Given the description of an element on the screen output the (x, y) to click on. 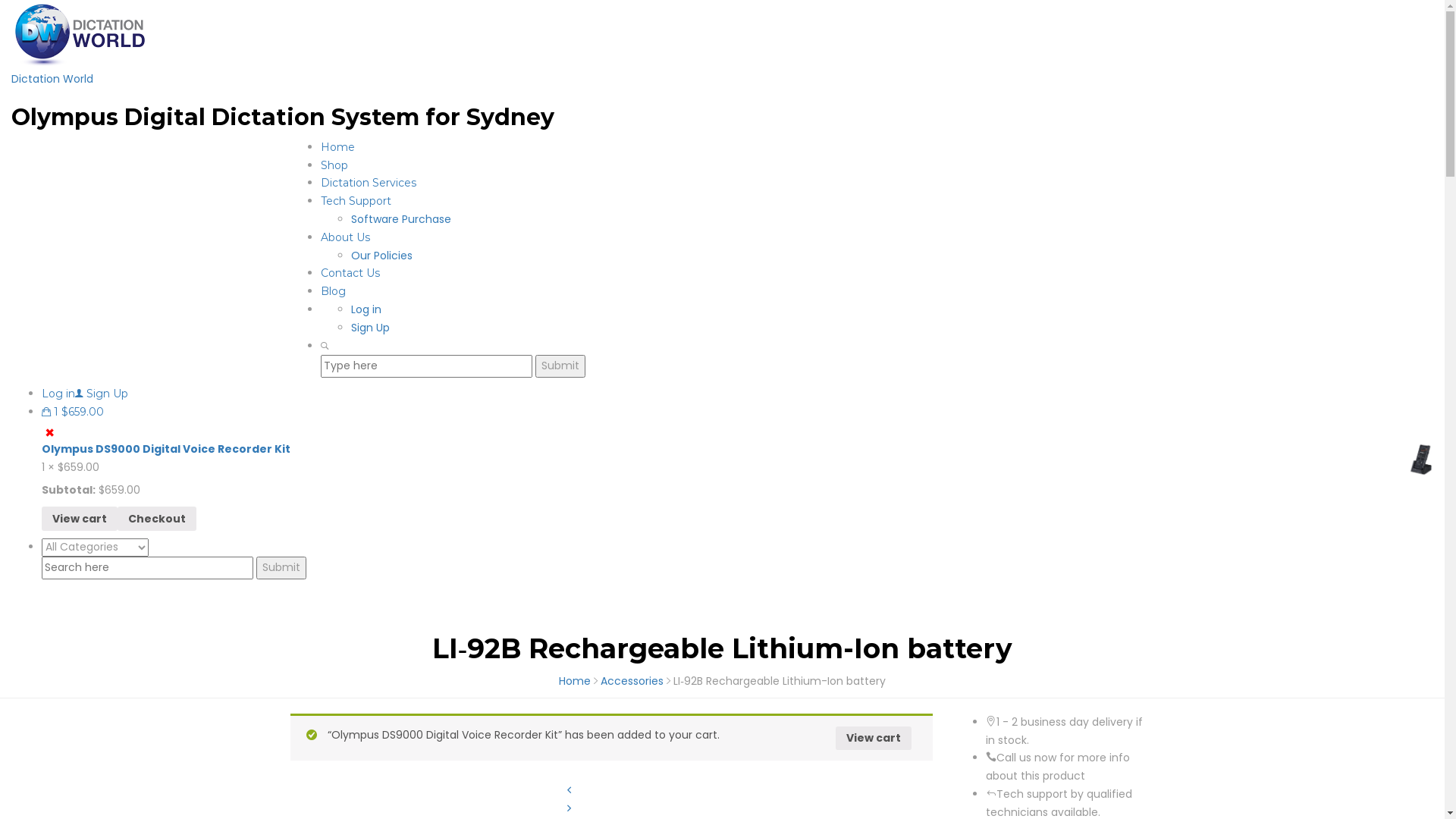
1 $659.00 Element type: text (72, 411)
View cart Element type: text (79, 518)
Shop Element type: text (333, 165)
About Us Element type: text (344, 237)
Olympus DS9000 Digital Voice Recorder Kit Element type: text (737, 449)
Software Purchase Element type: text (400, 218)
Blog Element type: text (332, 291)
Home Element type: text (337, 146)
Log in Element type: text (365, 308)
Our Policies Element type: text (380, 255)
Dictation Services Element type: text (367, 182)
Accessories Element type: text (631, 680)
Tech Support Element type: text (355, 200)
Dictation World Element type: text (52, 78)
Log in Element type: text (62, 393)
Checkout Element type: text (156, 518)
Home Element type: text (574, 680)
Contact Us Element type: text (349, 272)
Sign Up Element type: text (369, 327)
Sign Up Element type: text (107, 393)
View cart Element type: text (873, 737)
